Given the description of an element on the screen output the (x, y) to click on. 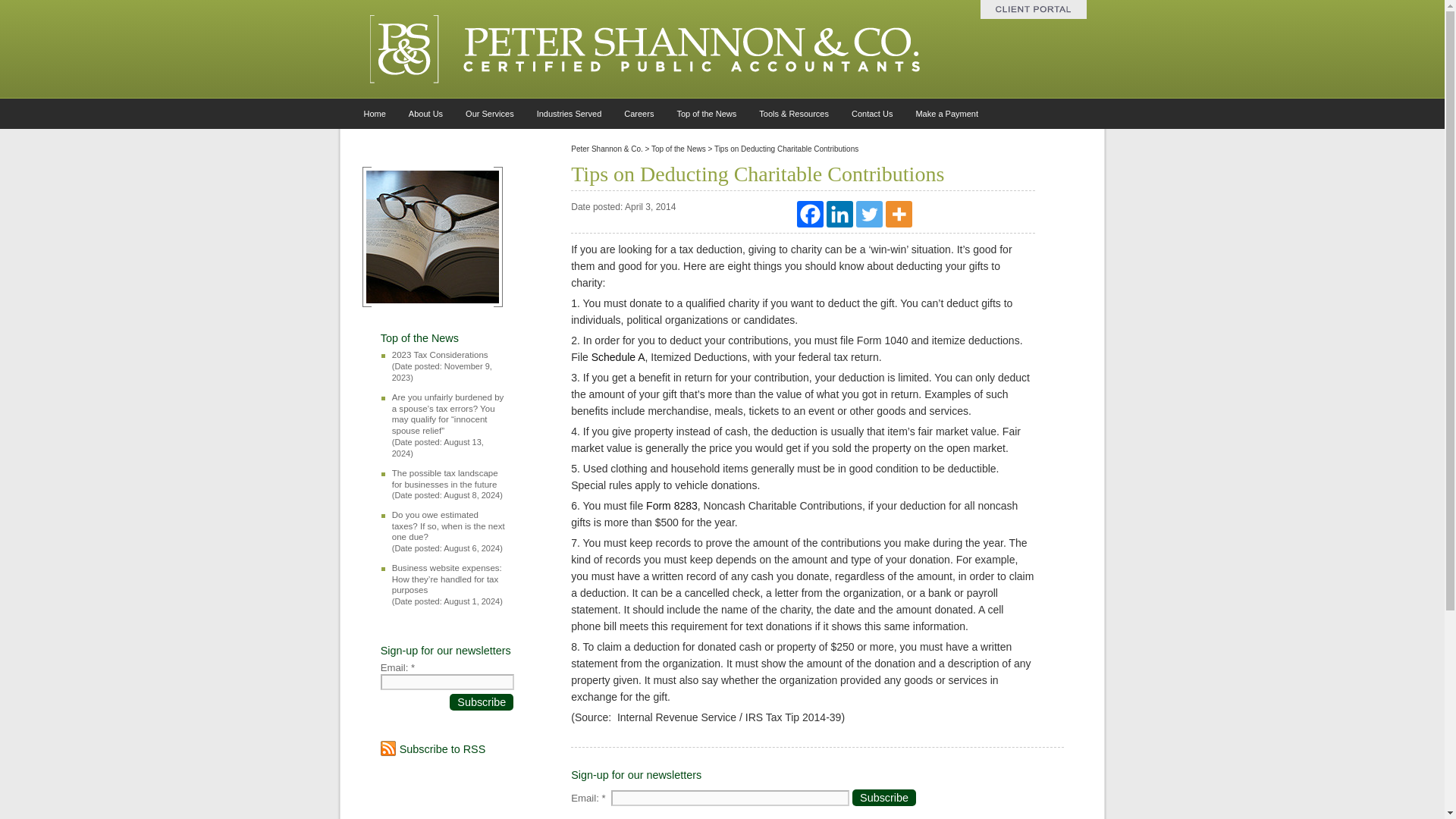
Subscribe (481, 701)
Facebook (810, 213)
Top of the News (706, 113)
Our Services (489, 113)
Linkedin (840, 213)
Subscribe (883, 797)
Careers (638, 113)
Home (374, 113)
More (898, 213)
Industries Served (568, 113)
